Given the description of an element on the screen output the (x, y) to click on. 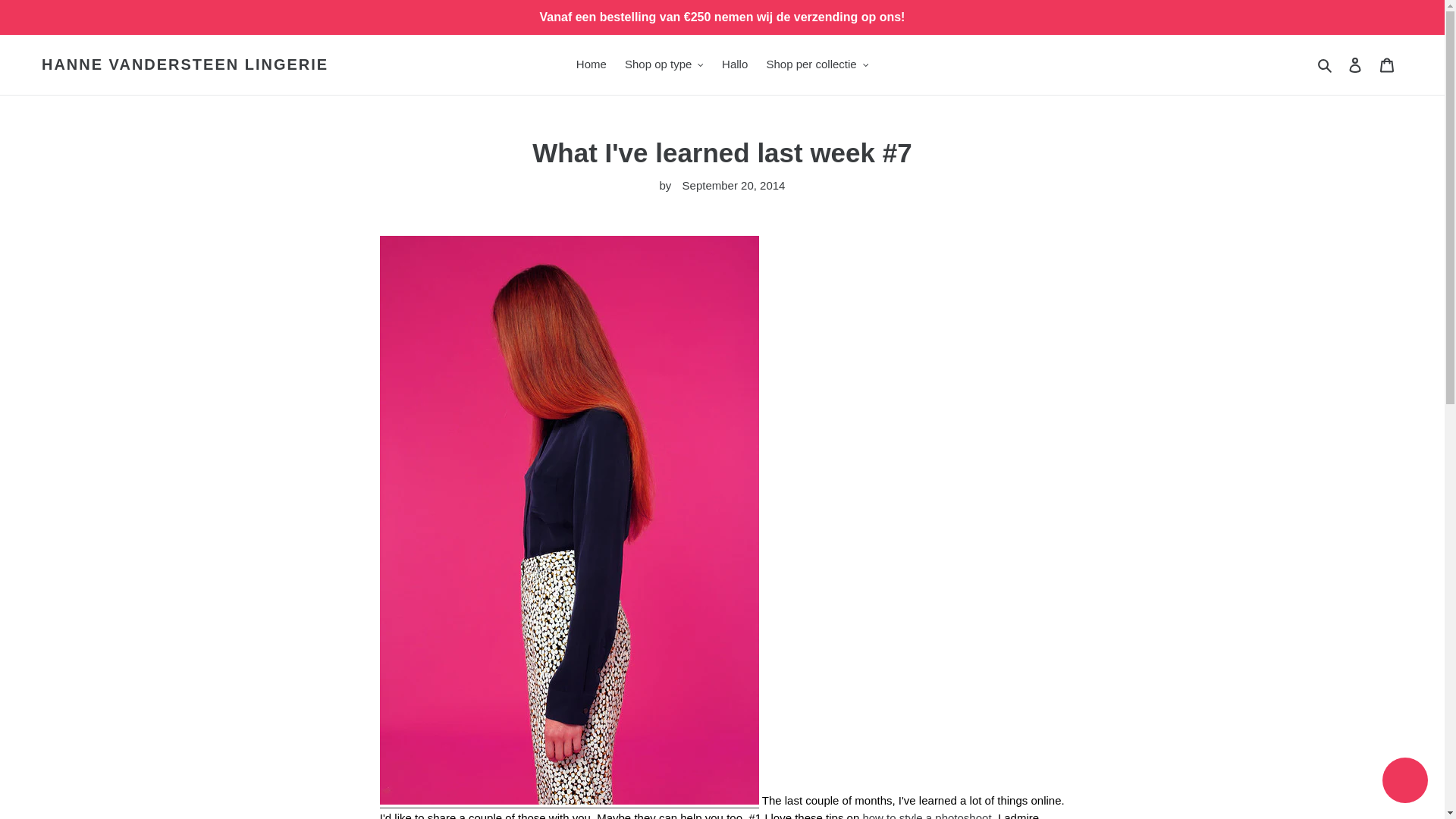
Shopify online store chat (1404, 781)
Shop op type (664, 65)
HANNE VANDERSTEEN LINGERIE (185, 64)
Log in (1355, 64)
Home (591, 65)
Hallo (734, 65)
Cart (1387, 64)
Shop per collectie (817, 65)
Search (1326, 64)
